Given the description of an element on the screen output the (x, y) to click on. 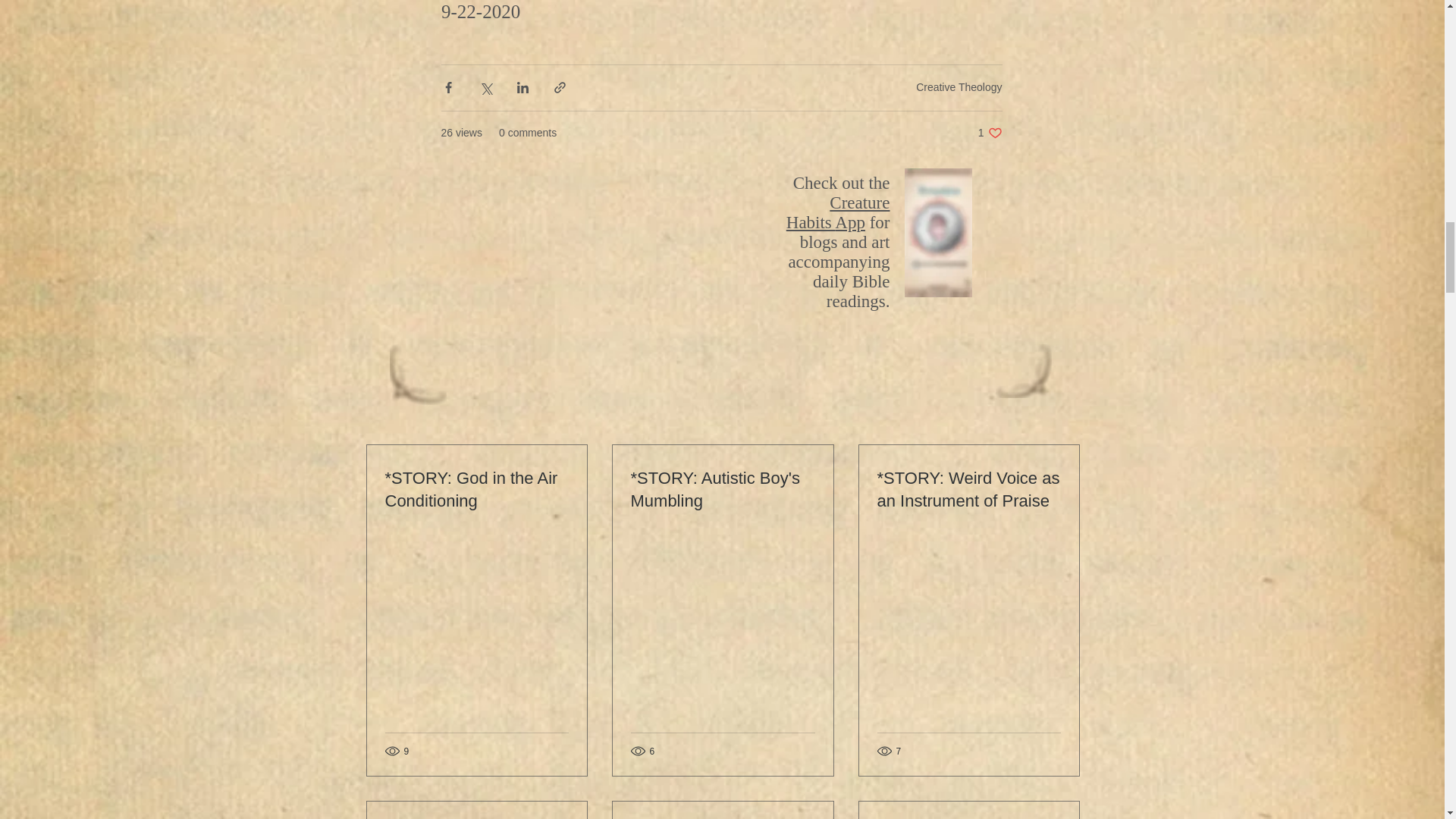
Creature Habits  (990, 133)
Creative Theology (837, 211)
App (958, 87)
